Given the description of an element on the screen output the (x, y) to click on. 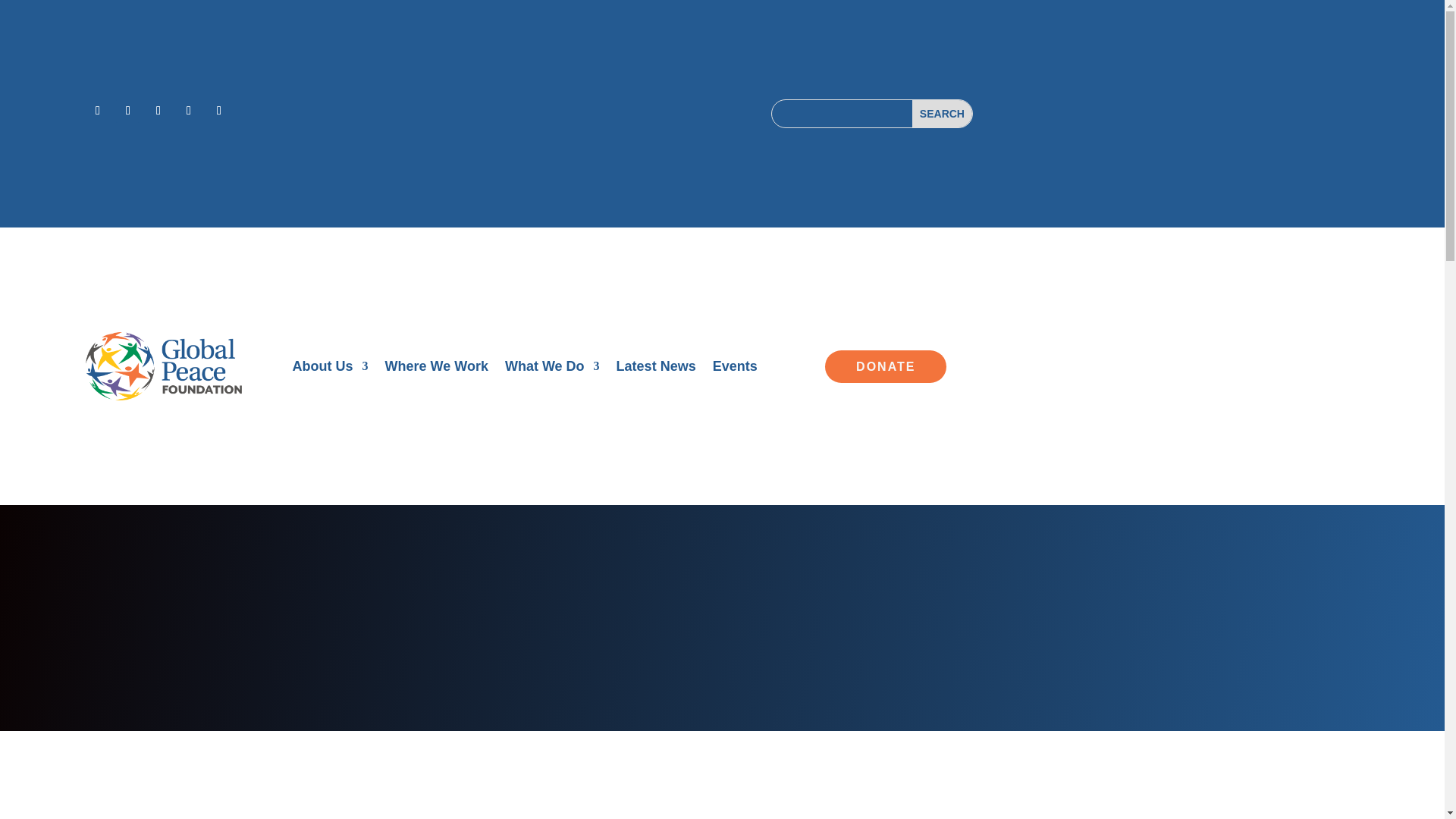
Search (942, 113)
What We Do (552, 369)
Search (942, 113)
Events (735, 369)
Global Peace Foundation Logo (163, 366)
Follow on X (127, 110)
Search (942, 113)
Where We Work (436, 369)
About Us (330, 369)
Latest News (655, 369)
